Given the description of an element on the screen output the (x, y) to click on. 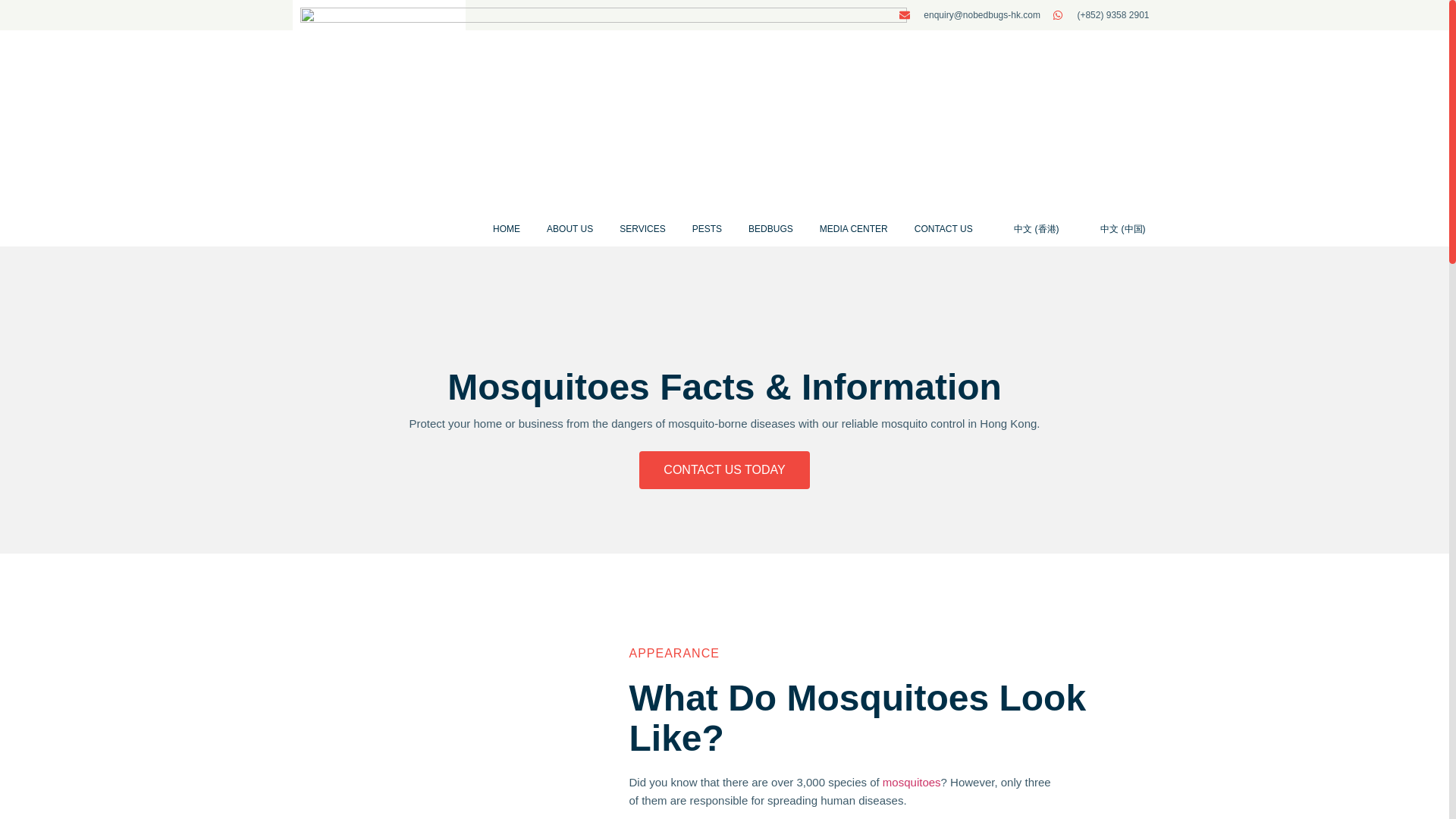
HOME (506, 228)
PESTS (706, 228)
BEDBUGS (770, 228)
MEDIA CENTER (853, 228)
SERVICES (641, 228)
ABOUT US (569, 228)
CONTACT US (943, 228)
